Given the description of an element on the screen output the (x, y) to click on. 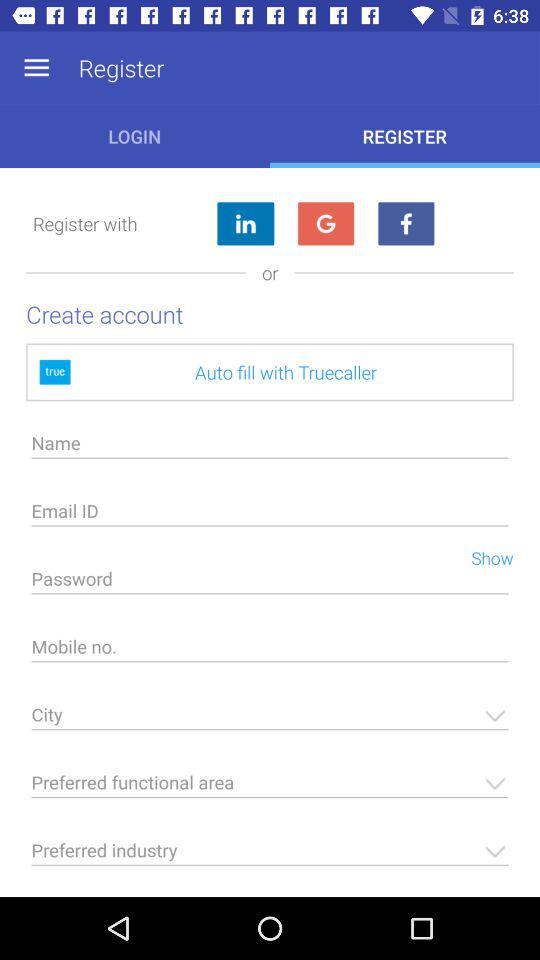
enter your password (269, 584)
